Given the description of an element on the screen output the (x, y) to click on. 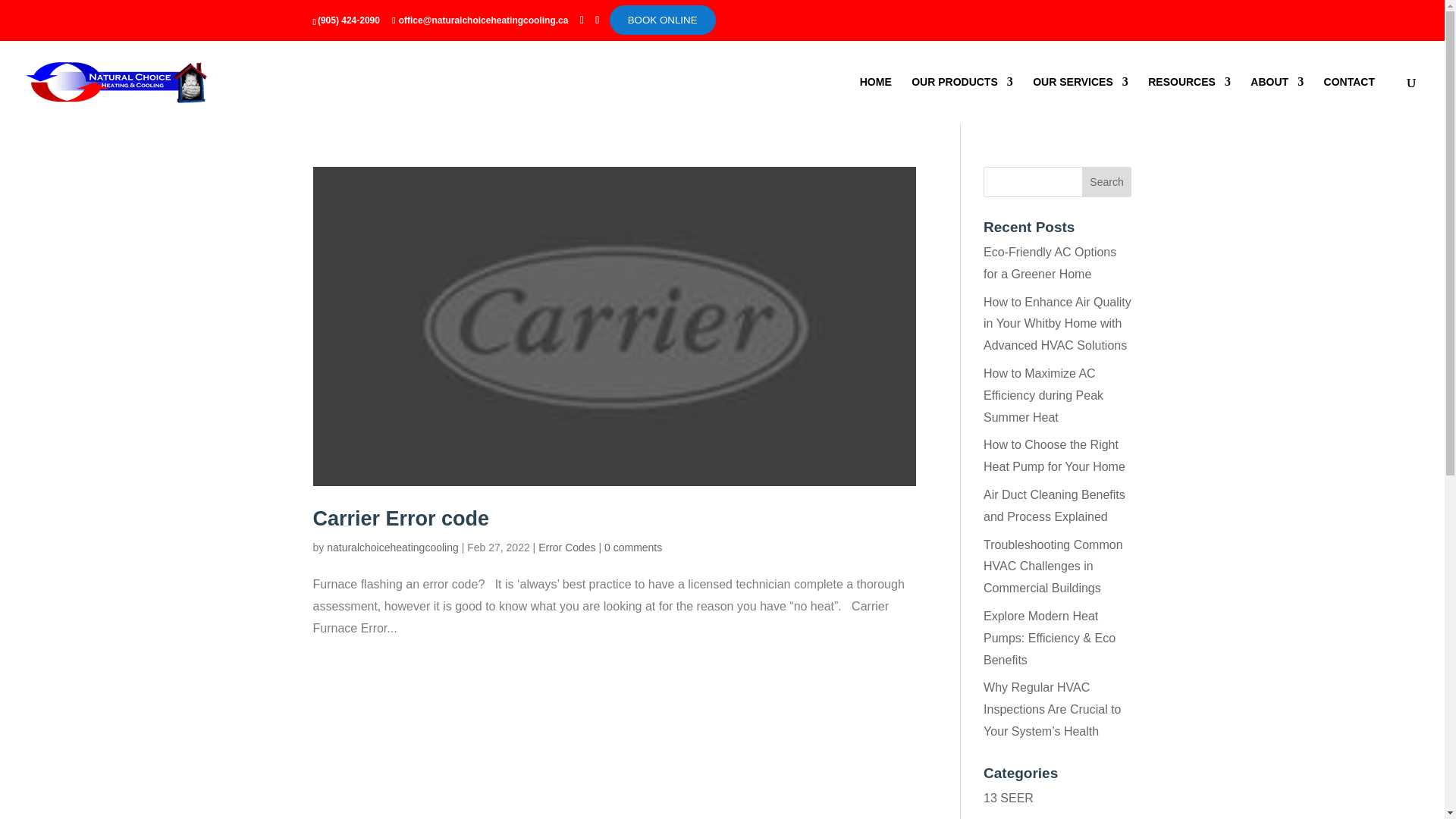
Search (1106, 182)
ABOUT (1276, 99)
Posts by naturalchoiceheatingcooling (392, 547)
BOOK ONLINE (663, 19)
OUR SERVICES (1080, 99)
OUR PRODUCTS (962, 99)
RESOURCES (1189, 99)
CONTACT (1348, 99)
